Given the description of an element on the screen output the (x, y) to click on. 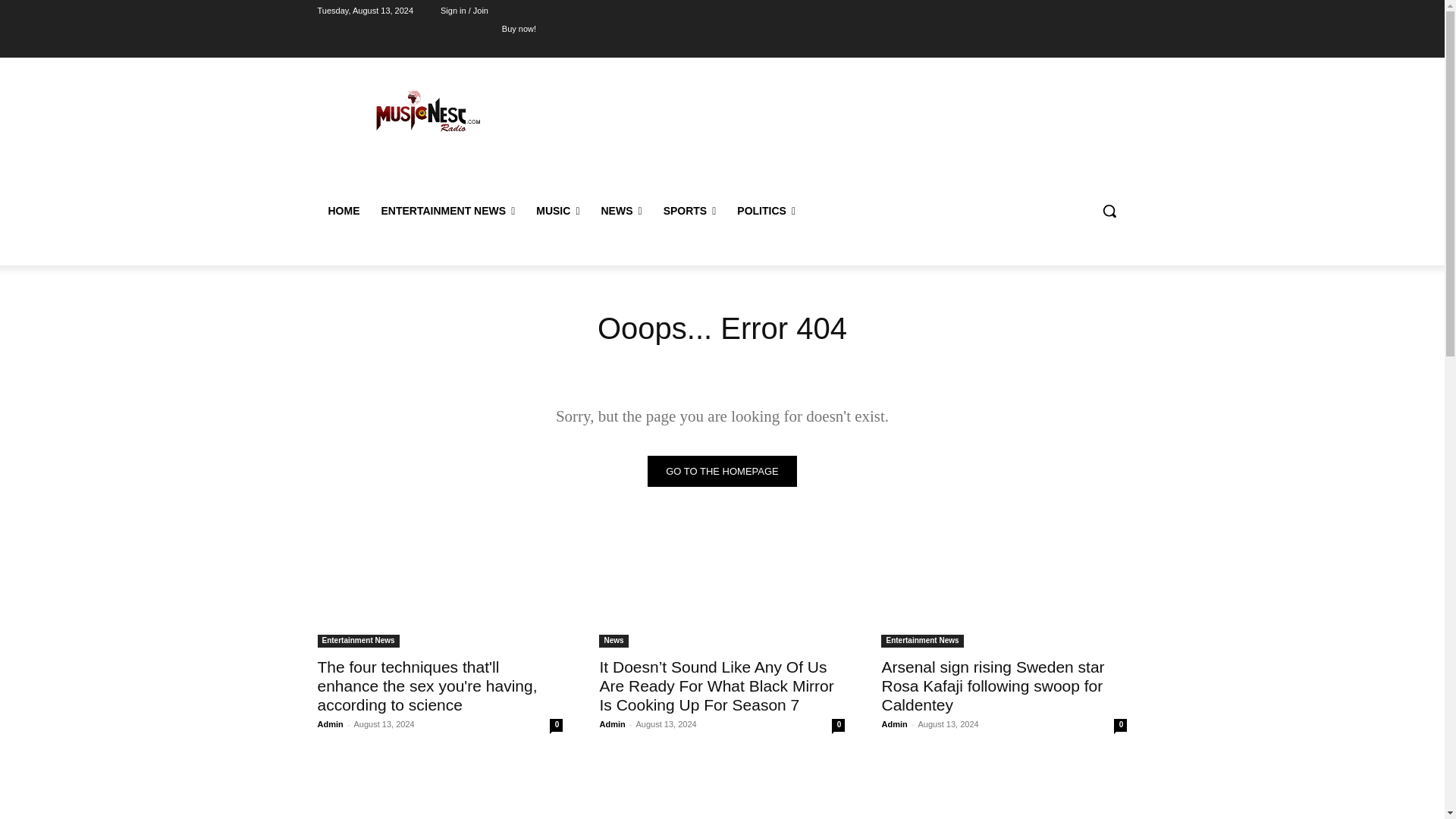
HOME (343, 210)
Buy now! (518, 28)
ENTERTAINMENT NEWS (447, 210)
